Given the description of an element on the screen output the (x, y) to click on. 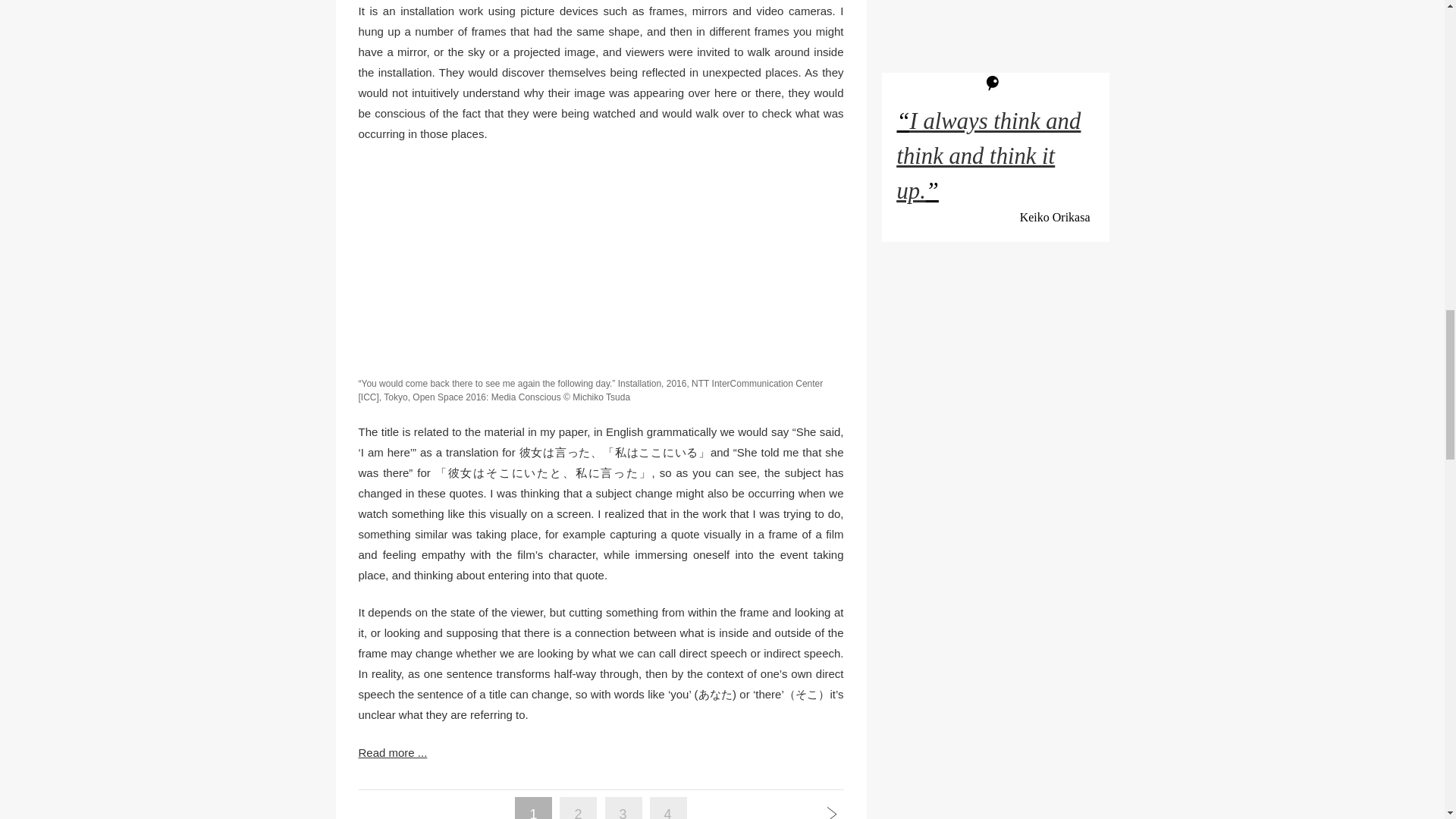
3 (623, 812)
2 (577, 812)
Read more ... (600, 752)
4 (667, 812)
See Article of Keiko Orikasa (988, 155)
